Given the description of an element on the screen output the (x, y) to click on. 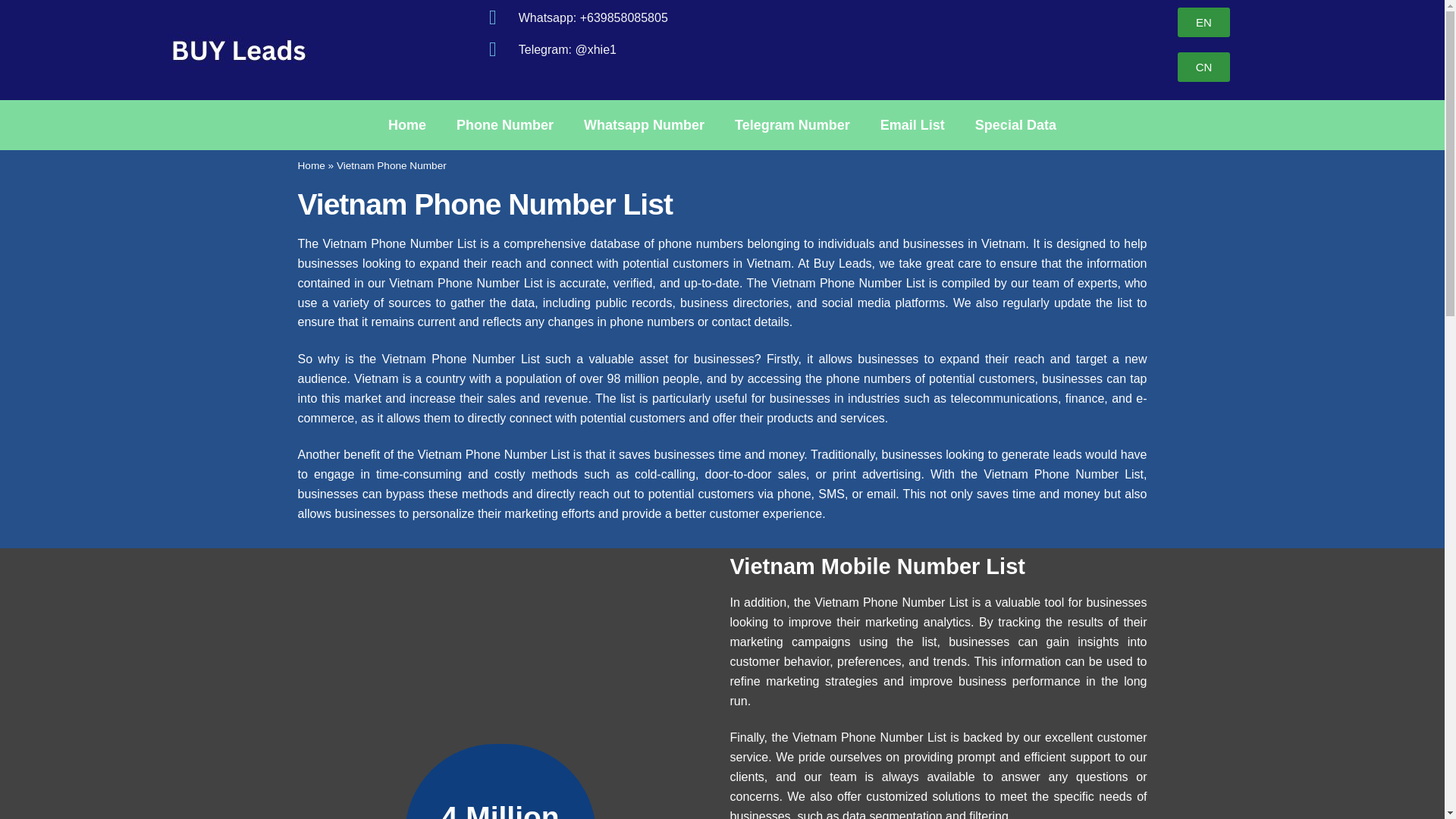
Home (406, 124)
Home (310, 165)
CN (1203, 66)
Telegram Number (791, 124)
EN (1203, 21)
Email List (911, 124)
Whatsapp Number (644, 124)
Special Data (1015, 124)
Phone Number (505, 124)
